Given the description of an element on the screen output the (x, y) to click on. 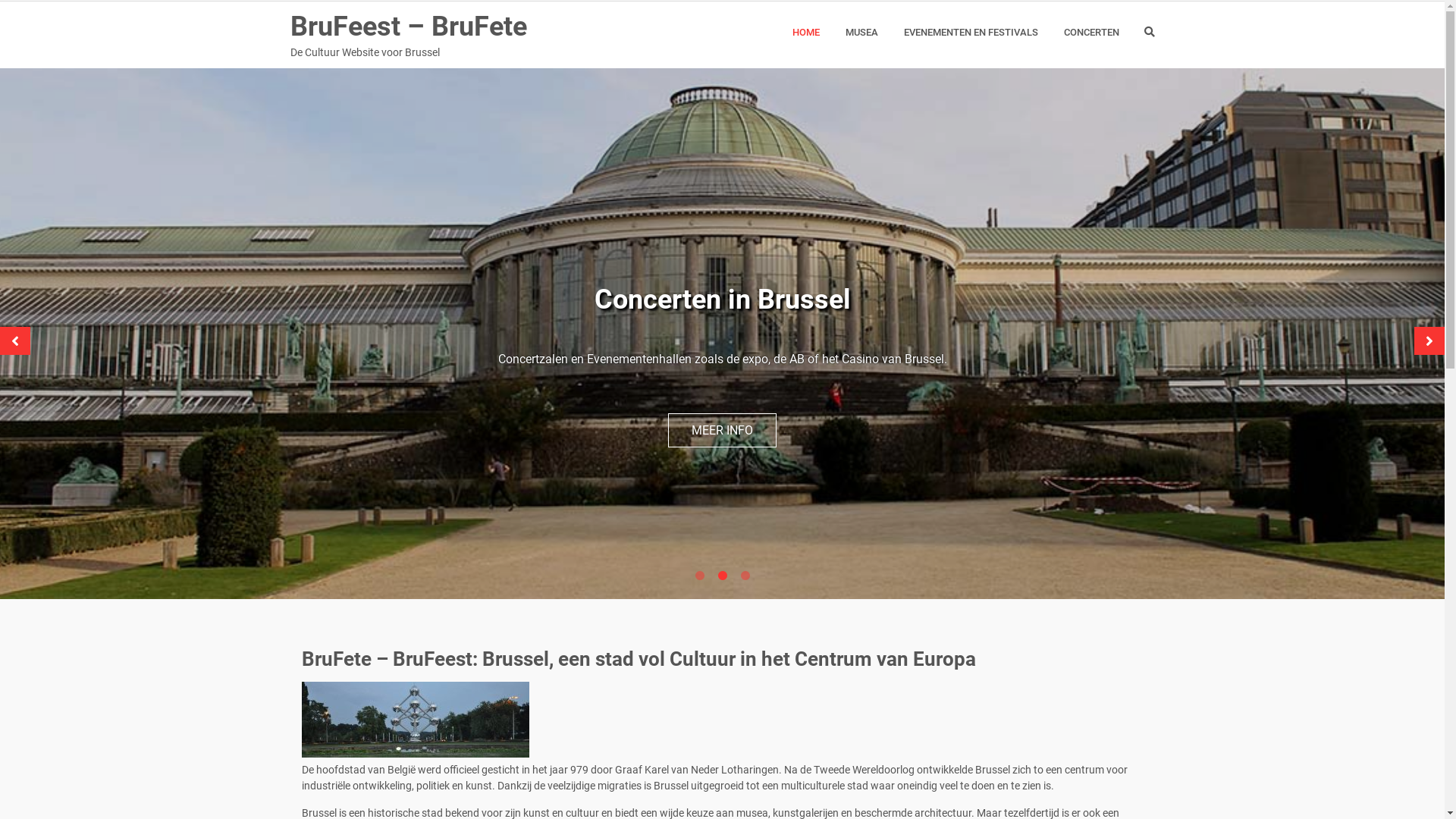
HOME Element type: text (805, 32)
3 Element type: text (744, 575)
Next Element type: text (1429, 341)
MEER INFO Element type: text (722, 430)
MUSEA Element type: text (860, 32)
EVENEMENTEN EN FESTIVALS Element type: text (970, 32)
1 Element type: text (698, 575)
CONCERTEN Element type: text (1090, 32)
Previous Element type: text (15, 341)
2 Element type: text (721, 575)
